Given the description of an element on the screen output the (x, y) to click on. 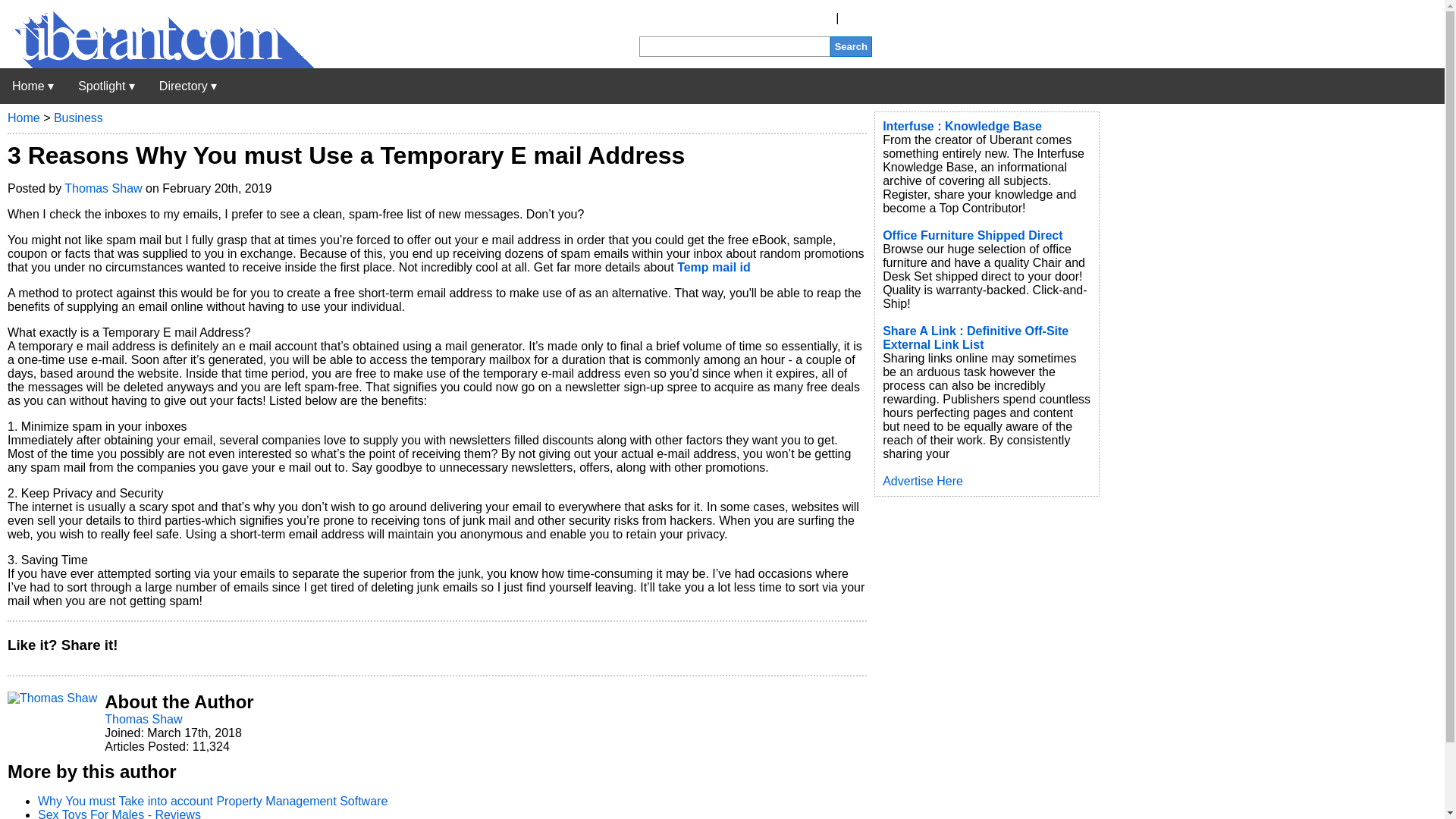
Login (857, 17)
Uberant (157, 63)
Search (850, 46)
Uberant (32, 85)
Search (850, 46)
Register (809, 17)
